Given the description of an element on the screen output the (x, y) to click on. 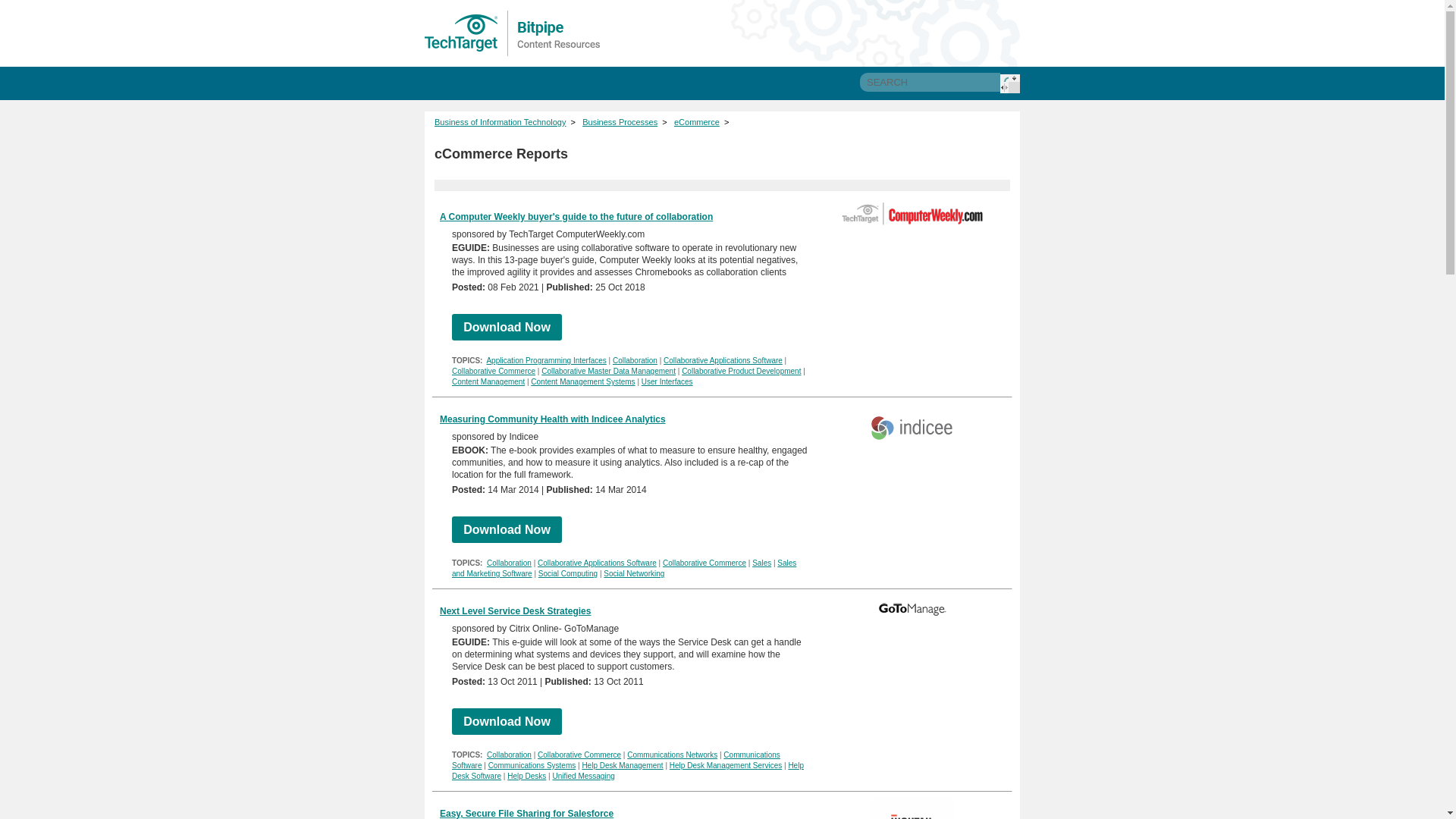
User Interfaces (667, 381)
Help Desks (526, 776)
Communications Systems (531, 765)
Application Programming Interfaces (545, 360)
Unified Messaging (582, 776)
Collaborative Applications Software (596, 562)
Collaborative Product Development (740, 370)
Bitpipe.com (513, 33)
SEARCH (930, 81)
Collaboration (508, 755)
